Given the description of an element on the screen output the (x, y) to click on. 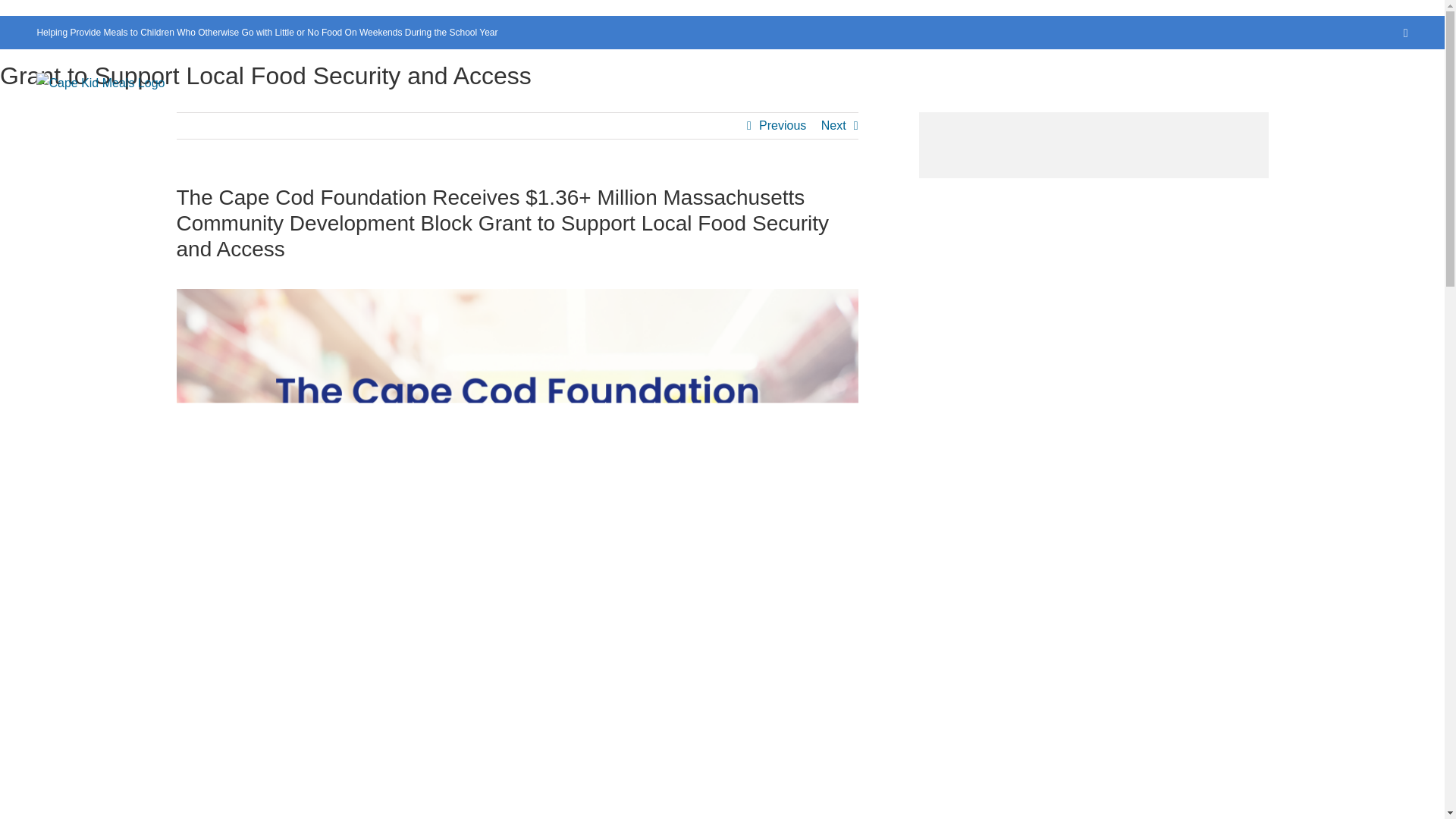
KEEPING THE PROMISE GALA (831, 105)
HOW YOU CAN HELP (1172, 105)
Previous (782, 125)
Next (833, 125)
